Given the description of an element on the screen output the (x, y) to click on. 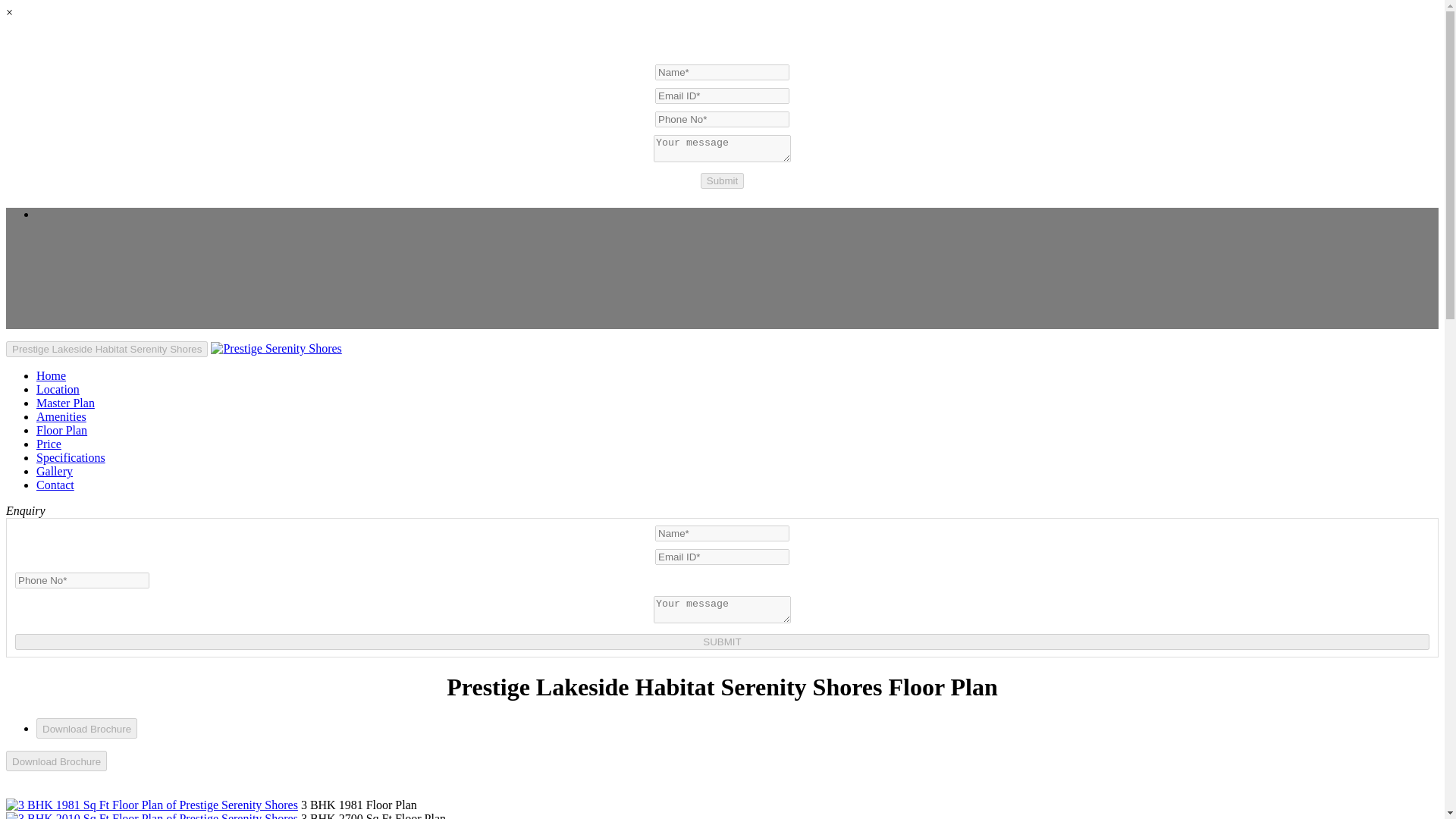
Floor Plan (61, 430)
Download Brochure (55, 761)
Prestige Lakeside Habitat Serenity Shores Floor Plan (61, 430)
Prestige Lakeside Habitat Serenity Shores Gallery (54, 471)
3 BHK 1981 Sq Ft Floor Plan of Prestige Serenity Shores (151, 804)
3 BHK 2010 Sq Ft Floor Plan of Prestige Serenity Shores (151, 815)
Prestige Lakeside Habitat Serenity Shores Master Plan (65, 402)
Prestige Lakeside Habitat Serenity Shores (106, 349)
Submit (722, 180)
Prestige Lakeside Habitat Serenity Shores Location Map (58, 389)
Home (50, 375)
Contact (55, 484)
SUBMIT (721, 641)
Location (58, 389)
Prestige Lakeside Habitat Serenity Shores Specifications (70, 457)
